Given the description of an element on the screen output the (x, y) to click on. 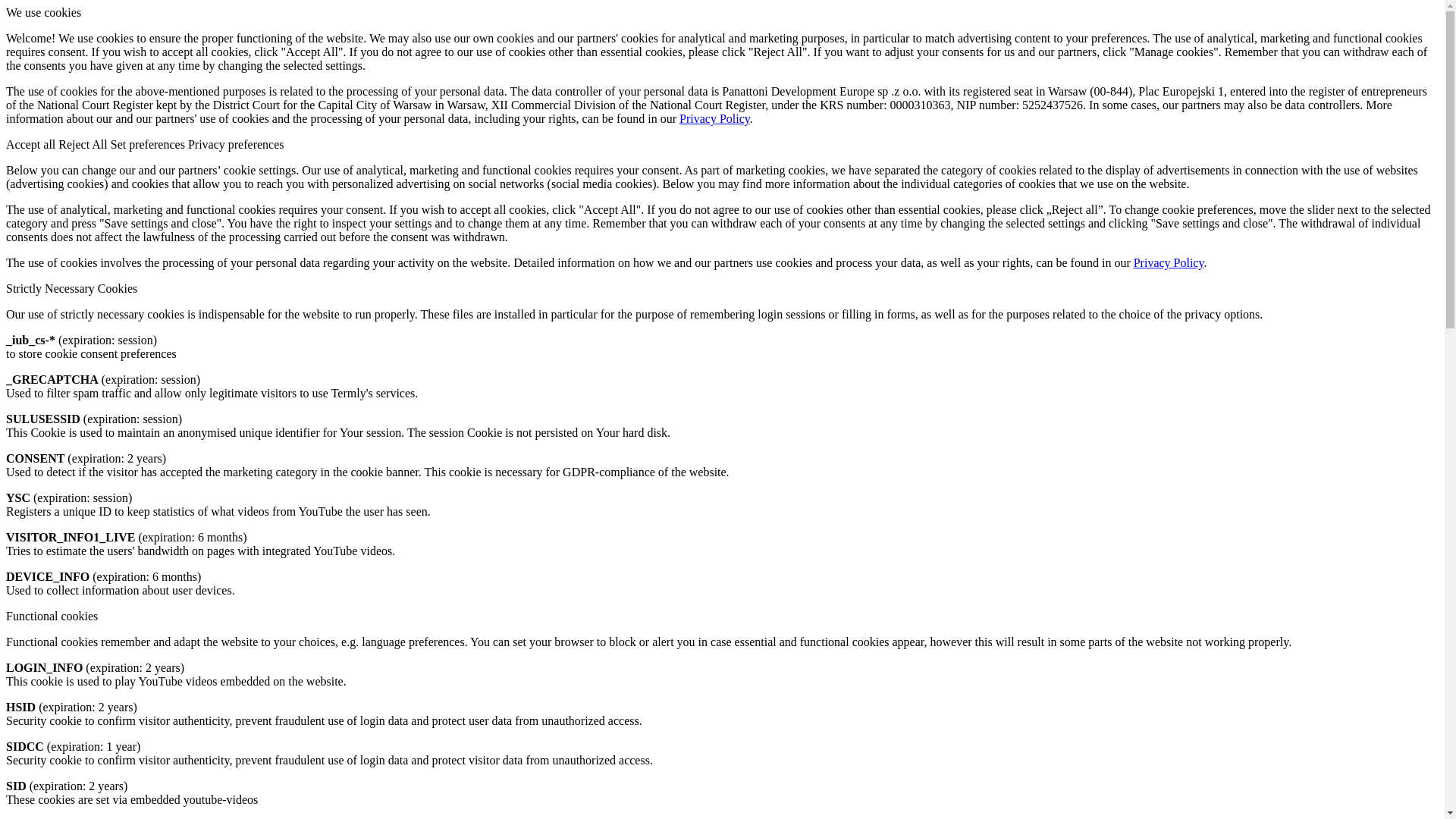
Privacy policy (1169, 262)
Privacy Policy (714, 118)
Privacy policy (714, 118)
Privacy Policy (1169, 262)
